Given the description of an element on the screen output the (x, y) to click on. 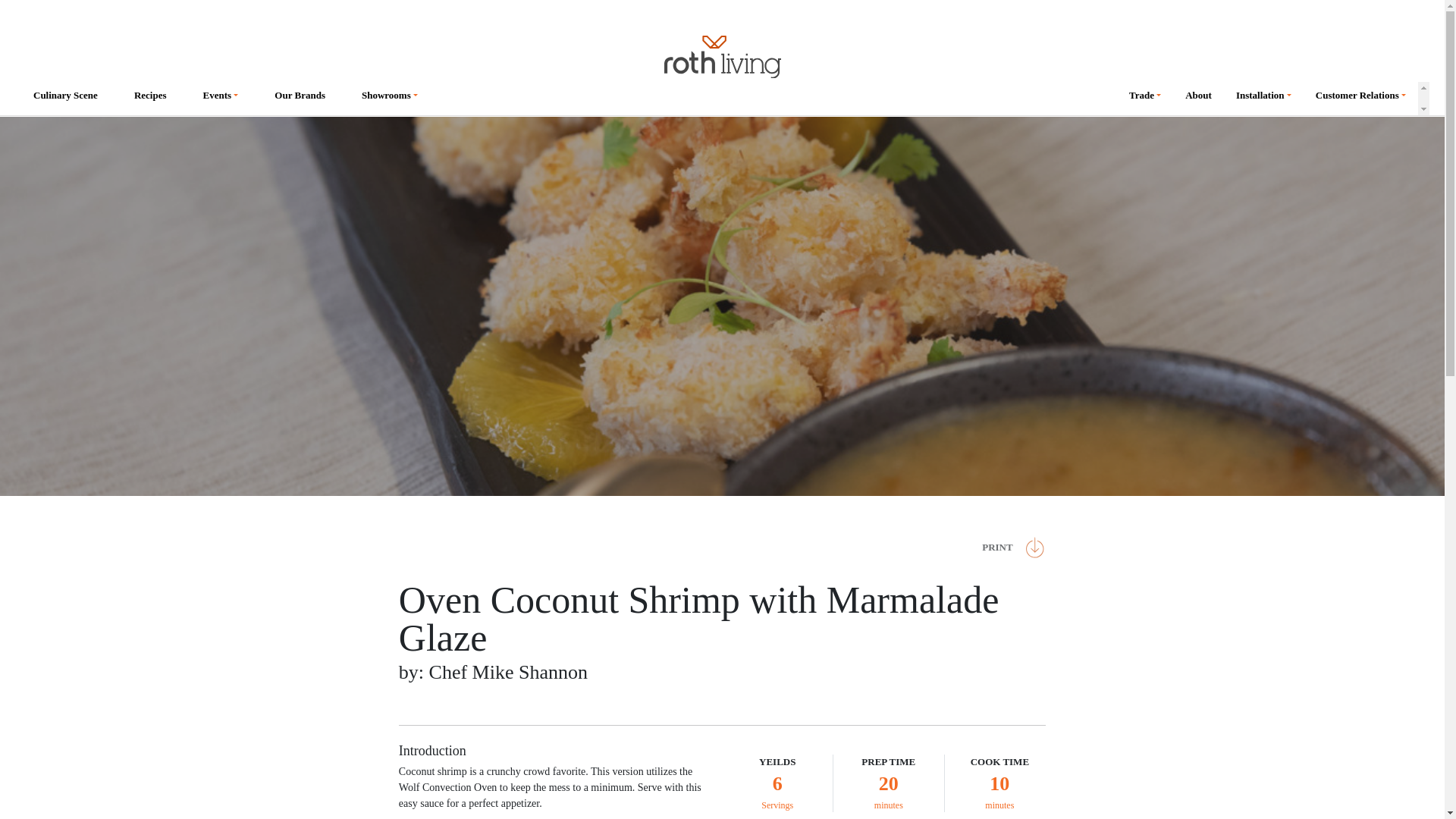
Installation (1263, 98)
Culinary Scene (65, 98)
PRINT (1007, 547)
Customer Relations (1361, 98)
Showrooms (389, 98)
Events (220, 98)
Recipes (150, 98)
Trade (1144, 98)
Our Brands (299, 98)
